Given the description of an element on the screen output the (x, y) to click on. 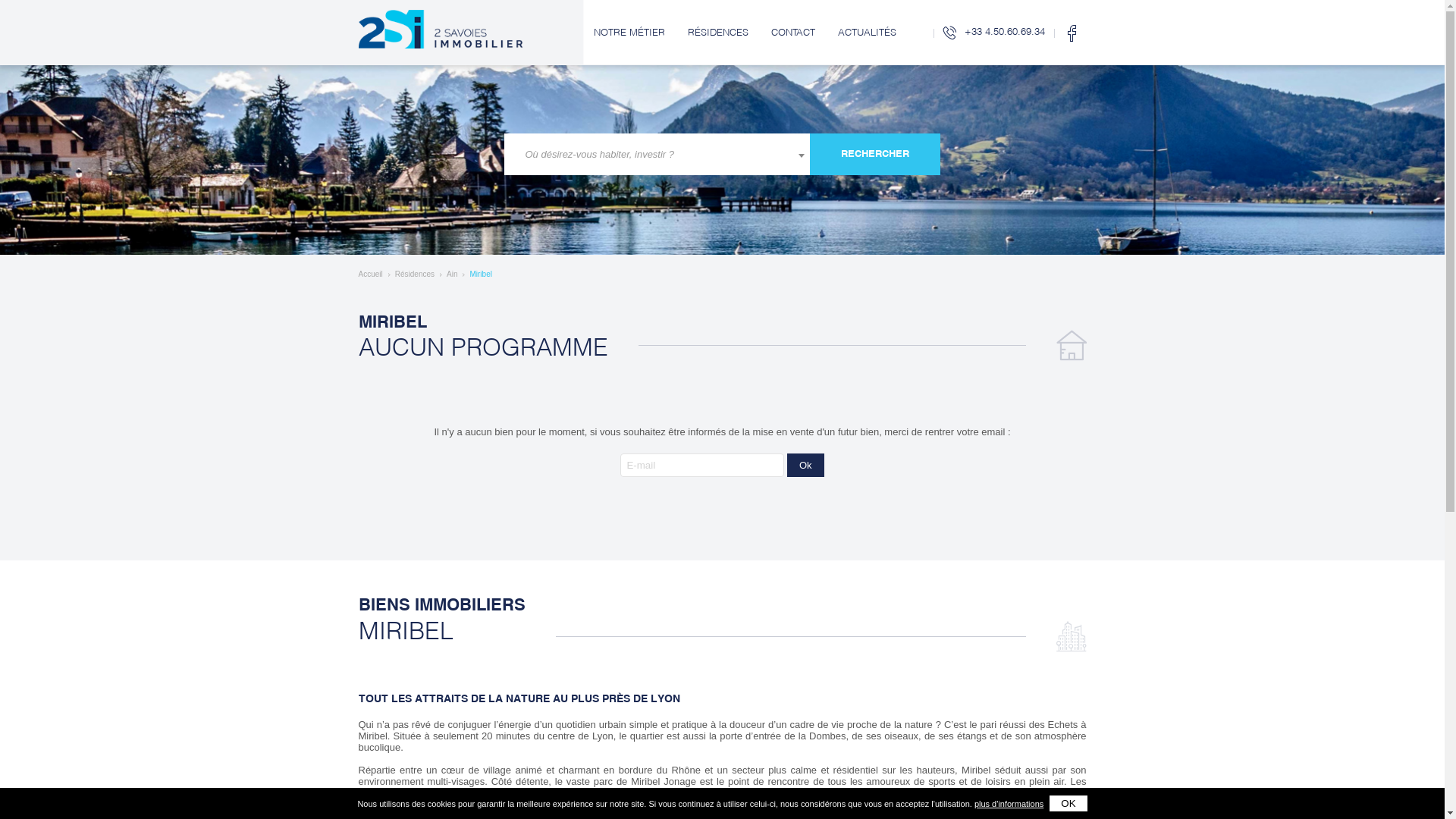
plus d'informations Element type: text (1008, 803)
CONTACT Element type: text (792, 33)
Accueil Element type: text (369, 273)
Ok Element type: text (805, 464)
Rechercher Element type: text (875, 154)
Ain Element type: text (451, 273)
ok Element type: text (1067, 803)
